Given the description of an element on the screen output the (x, y) to click on. 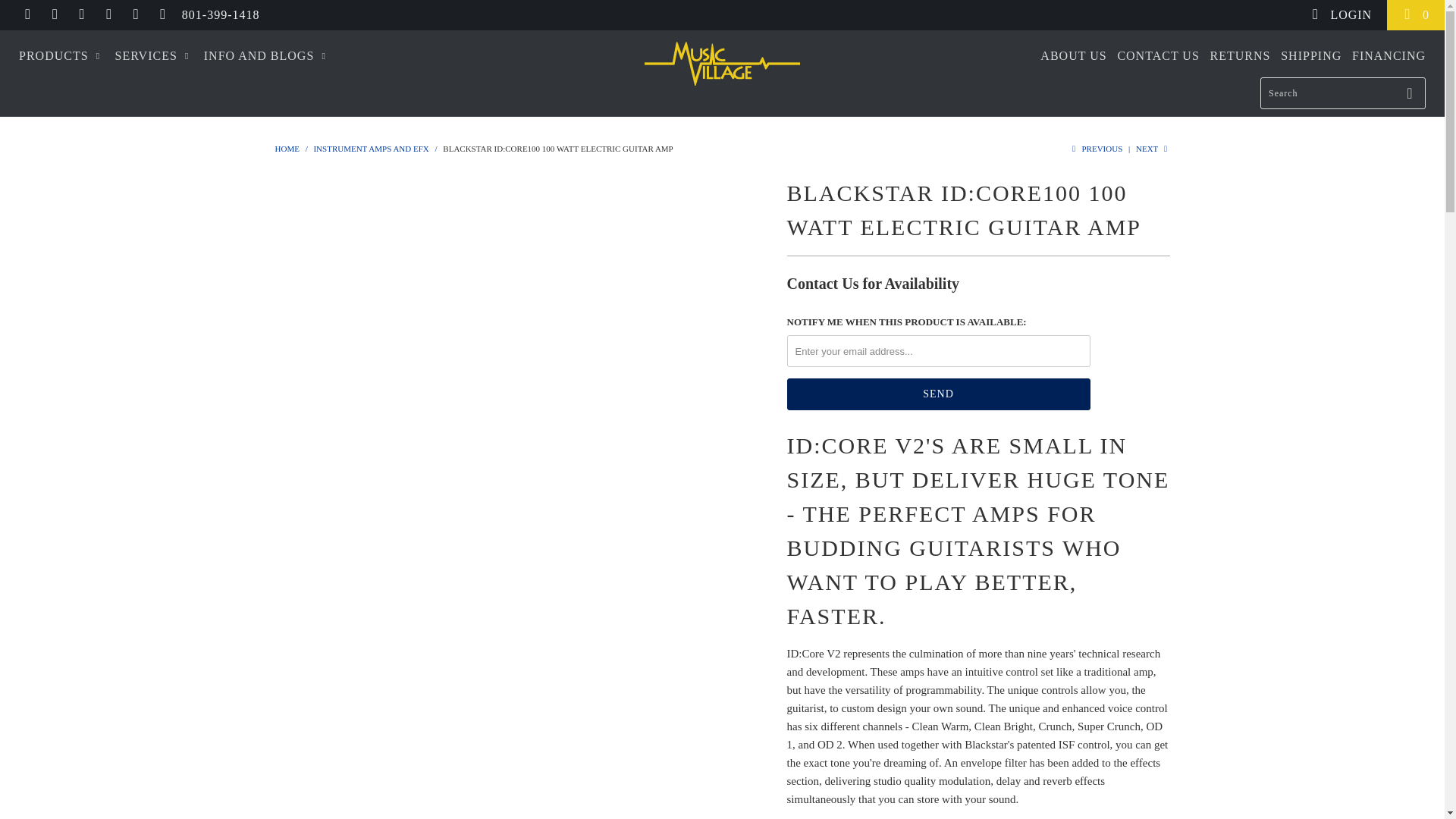
Music Village USA (286, 148)
Music Village USA (722, 63)
Next (1152, 148)
Email Music Village USA (162, 14)
Send (938, 394)
Instrument Amps and EFX (370, 148)
Music Village USA on Instagram (134, 14)
My Account  (1340, 15)
Previous (1095, 148)
Music Village USA on Facebook (54, 14)
